Given the description of an element on the screen output the (x, y) to click on. 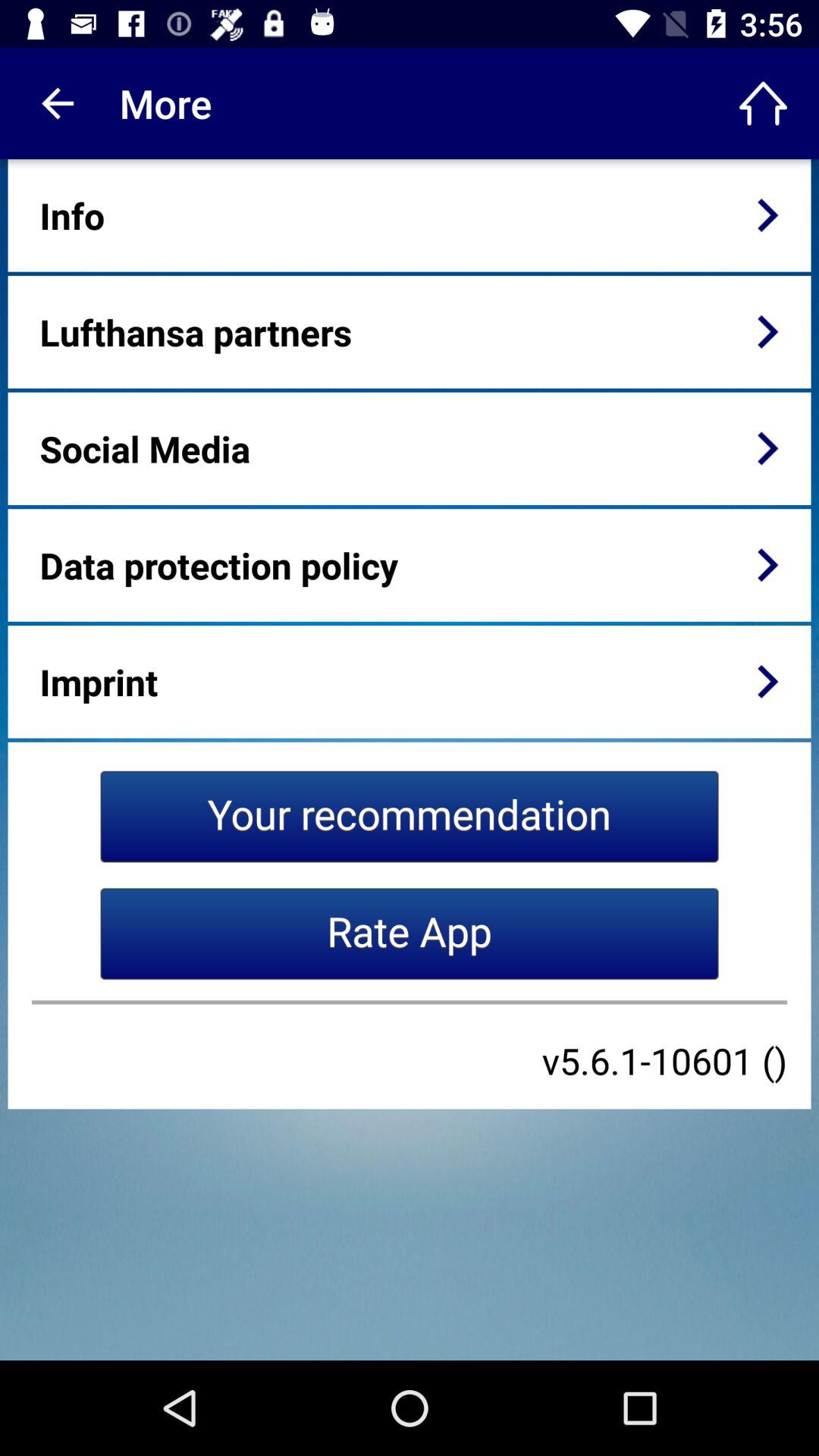
scroll to v5 6 1 (664, 1060)
